Given the description of an element on the screen output the (x, y) to click on. 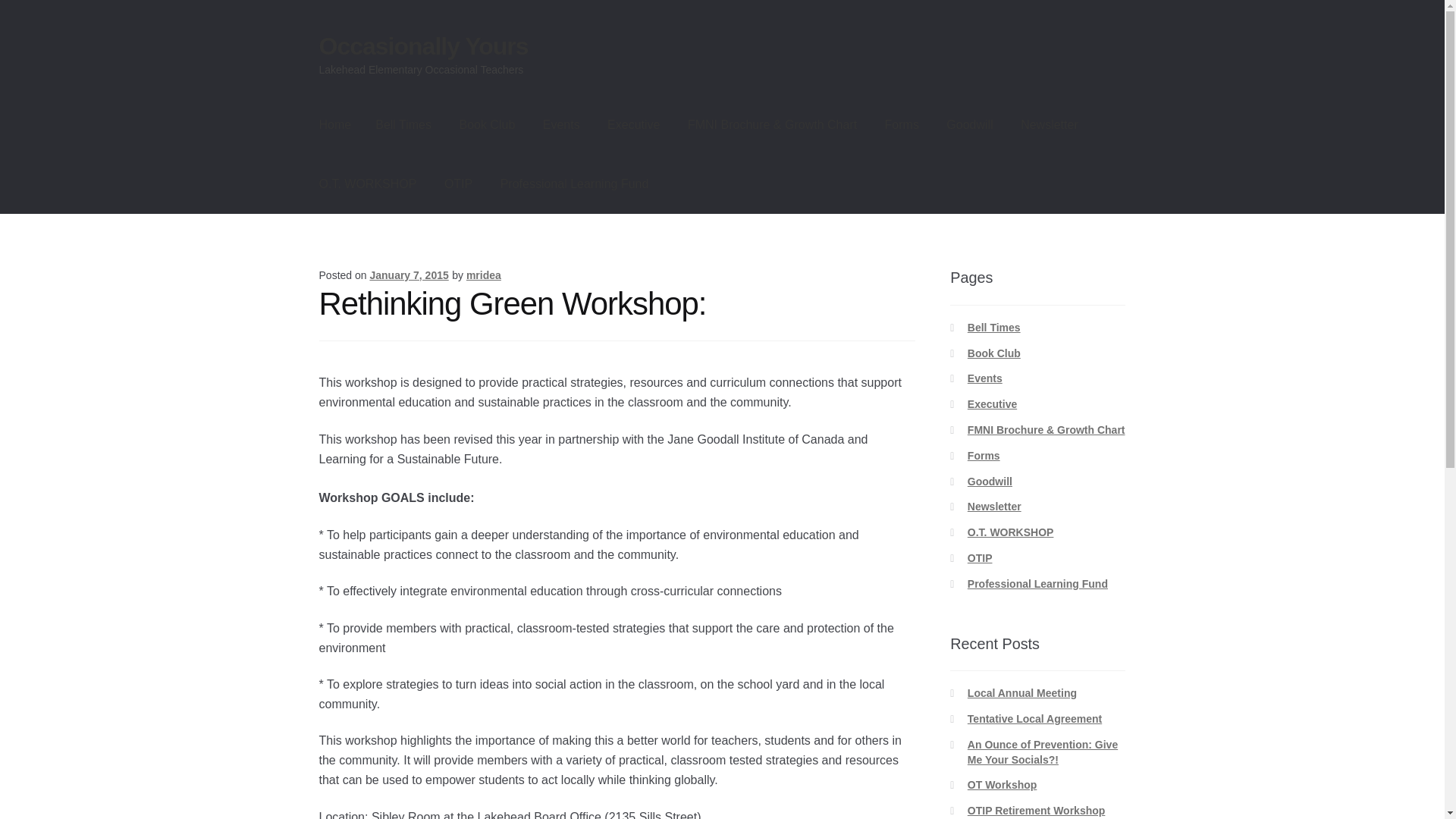
O.T. WORKSHOP (368, 183)
Book Club (486, 124)
Home (335, 124)
Forms (984, 455)
Forms (901, 124)
Professional Learning Fund (574, 183)
Newsletter (1049, 124)
Executive (992, 404)
Events (561, 124)
Events (985, 378)
